Given the description of an element on the screen output the (x, y) to click on. 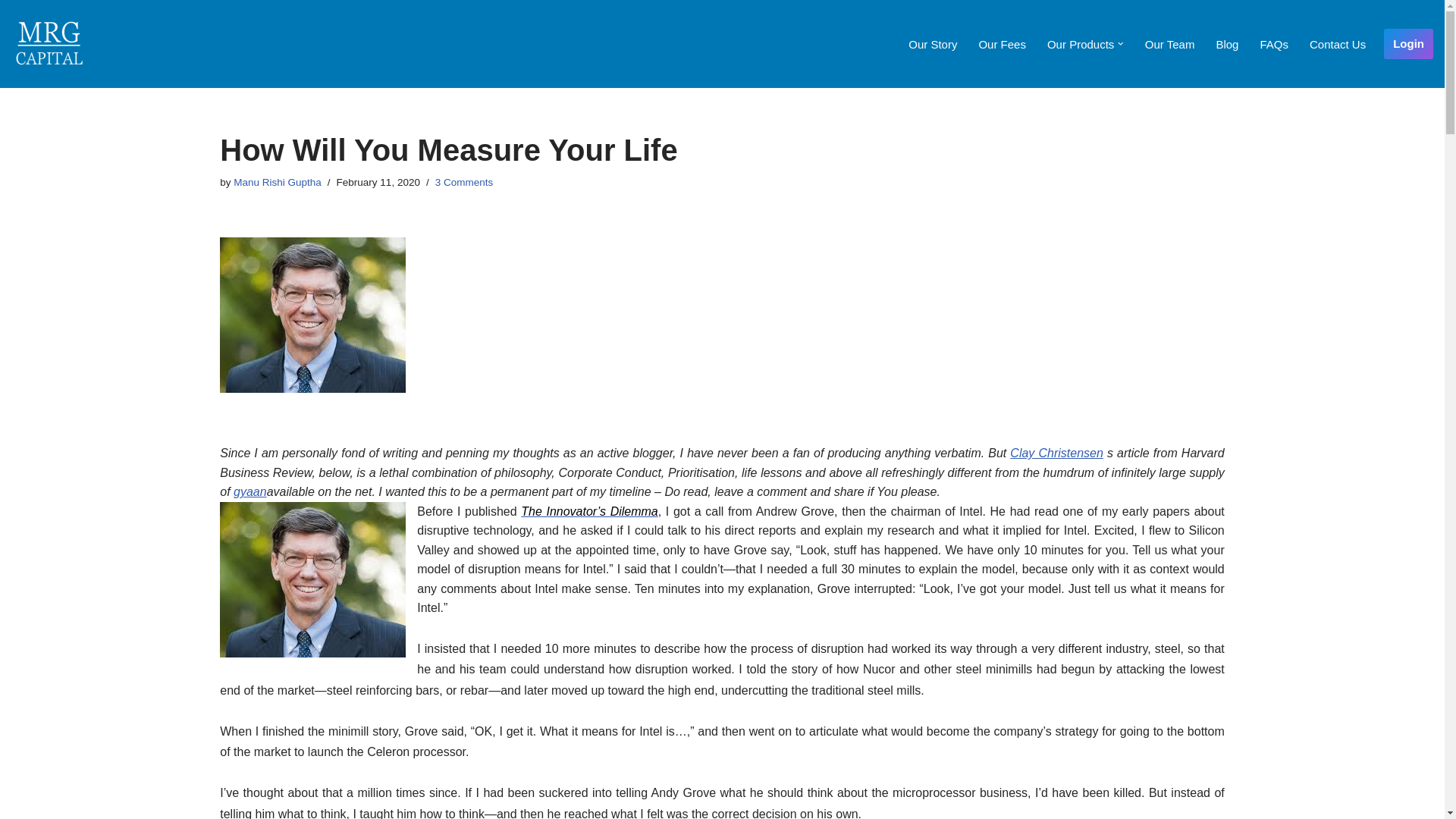
Posts by Manu Rishi Guptha (276, 182)
Blog (1227, 44)
Our Story (932, 44)
FAQs (1273, 44)
Our Products (1079, 44)
Our Team (1169, 44)
Our Fees (1002, 44)
gyaan (249, 491)
Clay Christensen (1056, 452)
Skip to content (11, 31)
